Given the description of an element on the screen output the (x, y) to click on. 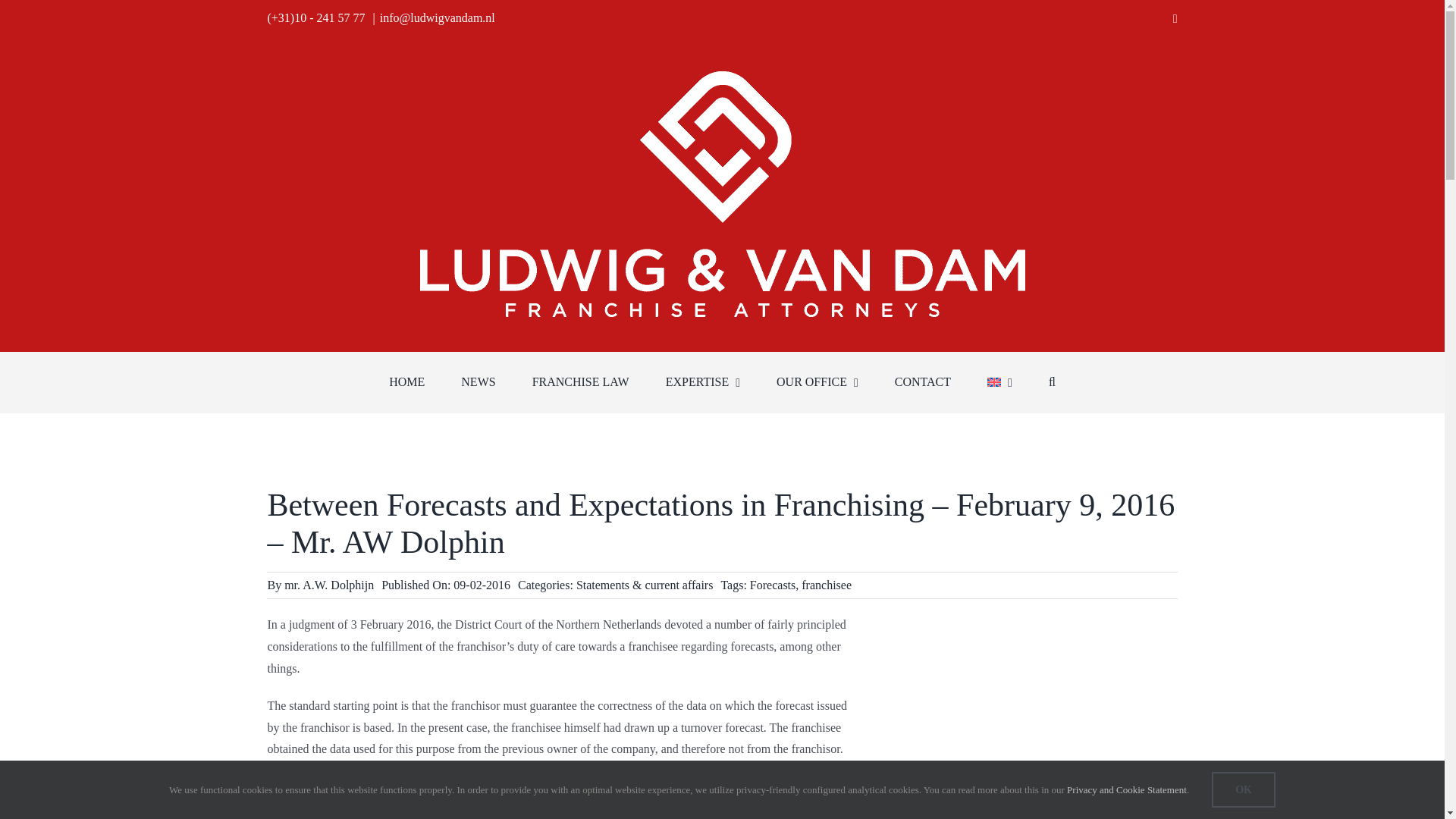
CONTACT (922, 382)
FRANCHISE LAW (580, 382)
OUR OFFICE (817, 382)
EXPERTISE (702, 382)
Posts by mr. A.W. Dolphijn (328, 584)
